Given the description of an element on the screen output the (x, y) to click on. 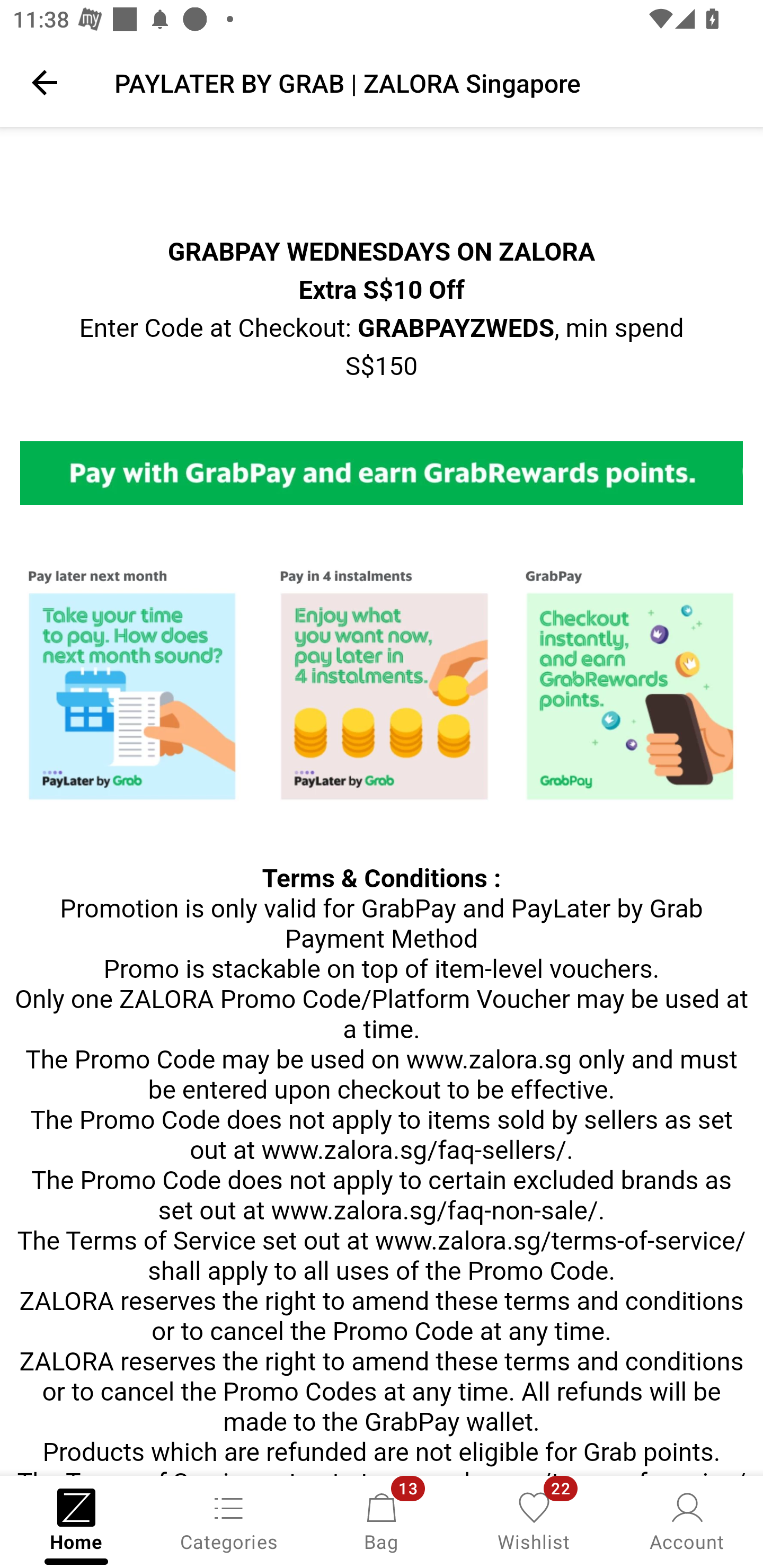
Navigate up (44, 82)
PAYLATER BY GRAB | ZALORA Singapore (426, 82)
Categories (228, 1519)
Bag, 13 new notifications Bag (381, 1519)
Wishlist, 22 new notifications Wishlist (533, 1519)
Account (686, 1519)
